Given the description of an element on the screen output the (x, y) to click on. 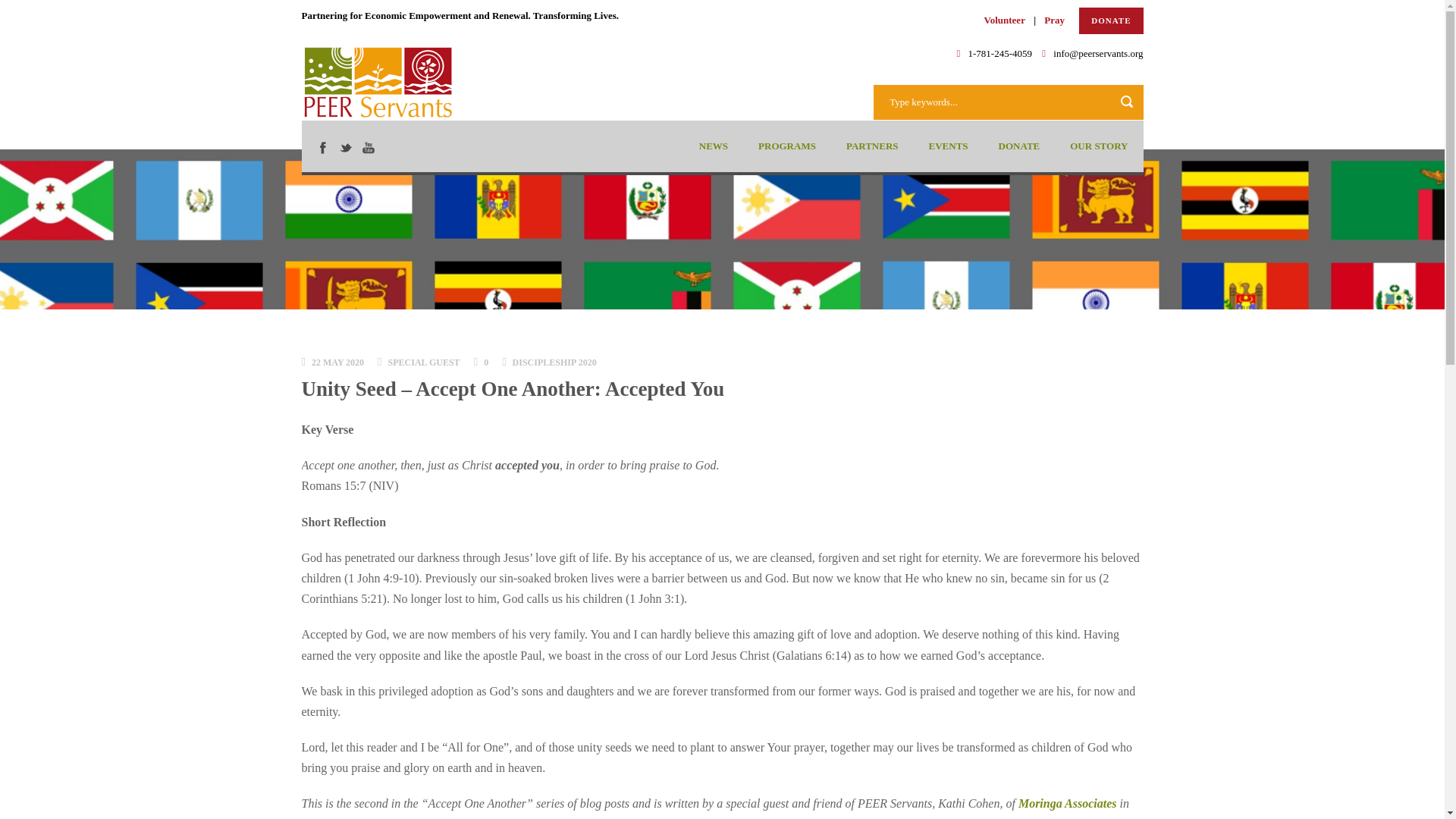
Type keywords... (1007, 102)
Posts by Special Guest (424, 362)
Volunteer (1004, 19)
DONATE (1110, 20)
Pray (1055, 19)
